Given the description of an element on the screen output the (x, y) to click on. 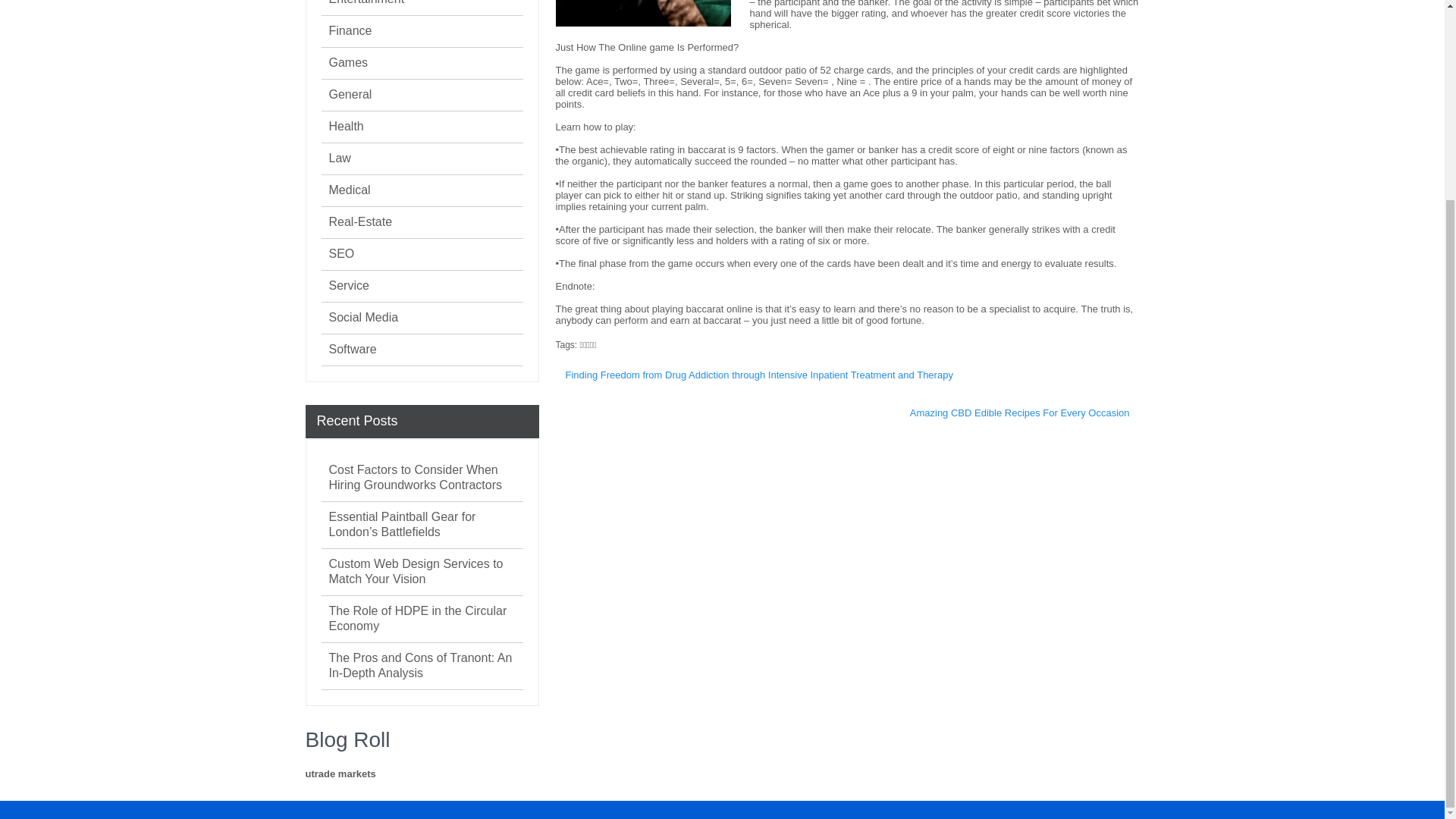
SEO (342, 253)
The Pros and Cons of Tranont: An In-Depth Analysis (425, 665)
Finance (350, 30)
utrade markets (339, 773)
Health (346, 126)
General (350, 94)
Service (349, 285)
Custom Web Design Services to Match Your Vision (425, 571)
Medical (350, 190)
Social Media (363, 317)
Cost Factors to Consider When Hiring Groundworks Contractors (425, 477)
Amazing CBD Edible Recipes For Every Occasion (1019, 413)
Games (348, 62)
Real-Estate (361, 222)
Law (339, 158)
